Given the description of an element on the screen output the (x, y) to click on. 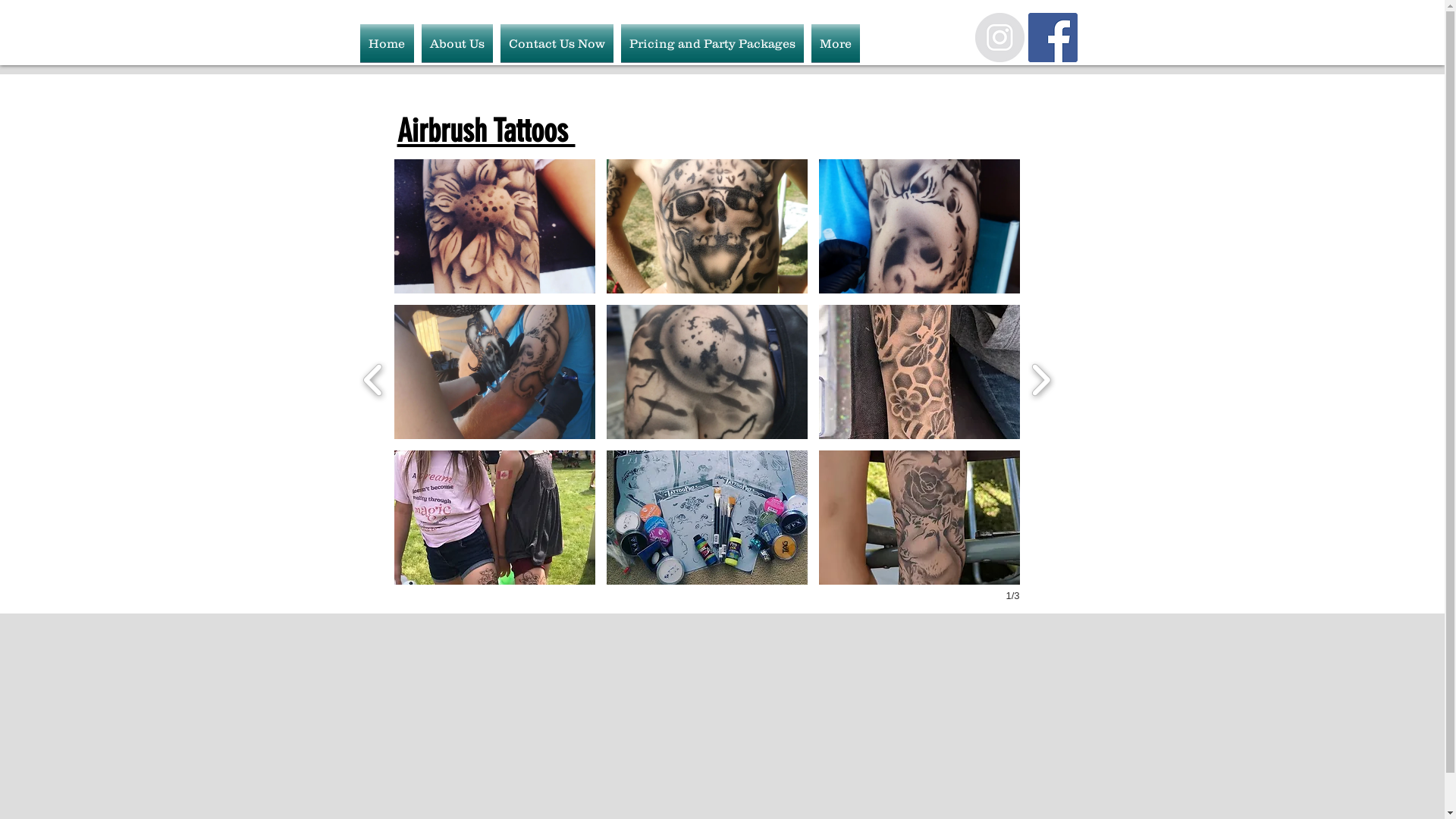
Pricing and Party Packages Element type: text (712, 43)
About Us Element type: text (456, 43)
Home Element type: text (388, 43)
Contact Us Now Element type: text (555, 43)
